Given the description of an element on the screen output the (x, y) to click on. 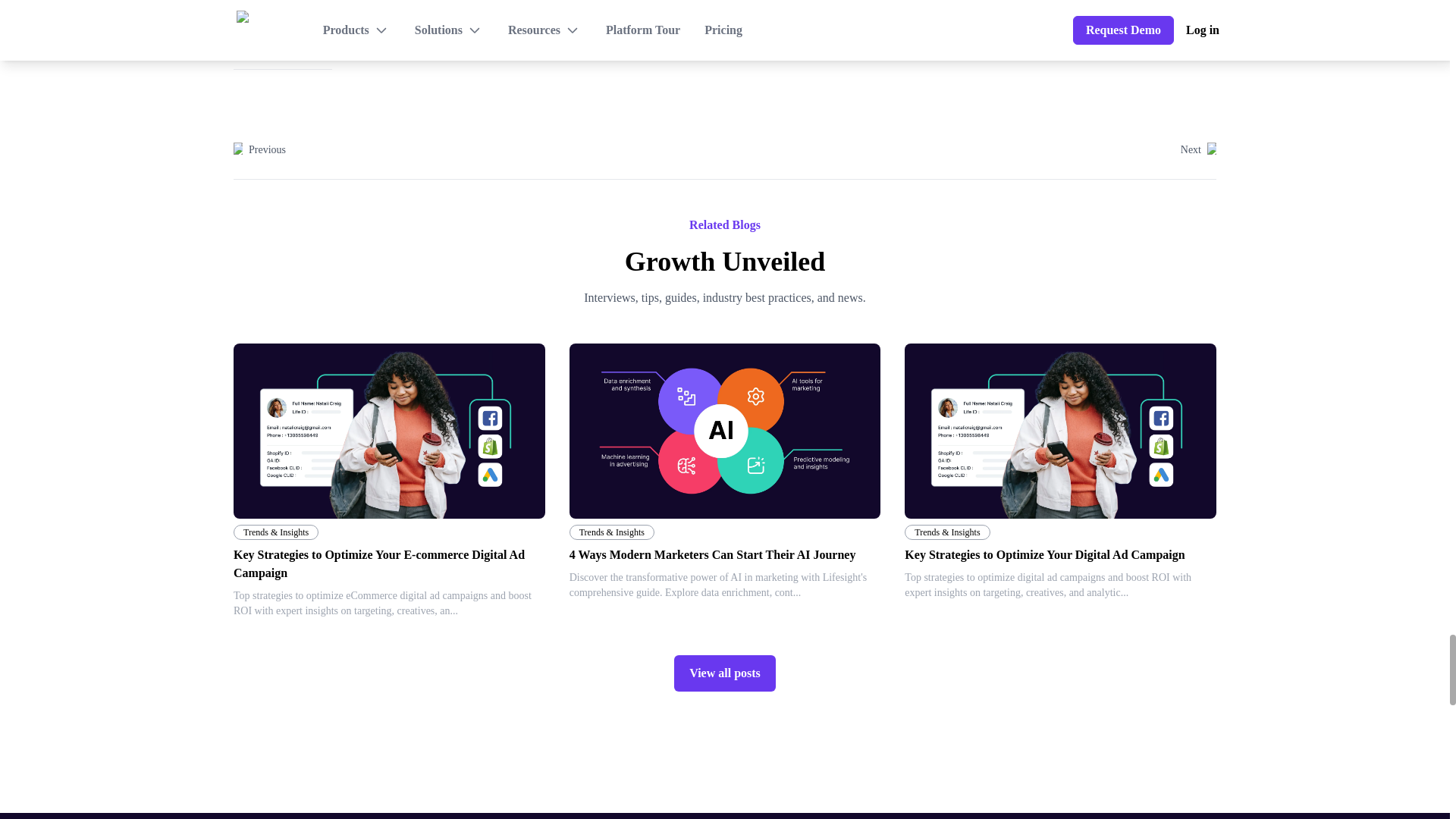
Previous (258, 150)
View all posts (725, 673)
Next (1197, 150)
View all posts (724, 673)
